Given the description of an element on the screen output the (x, y) to click on. 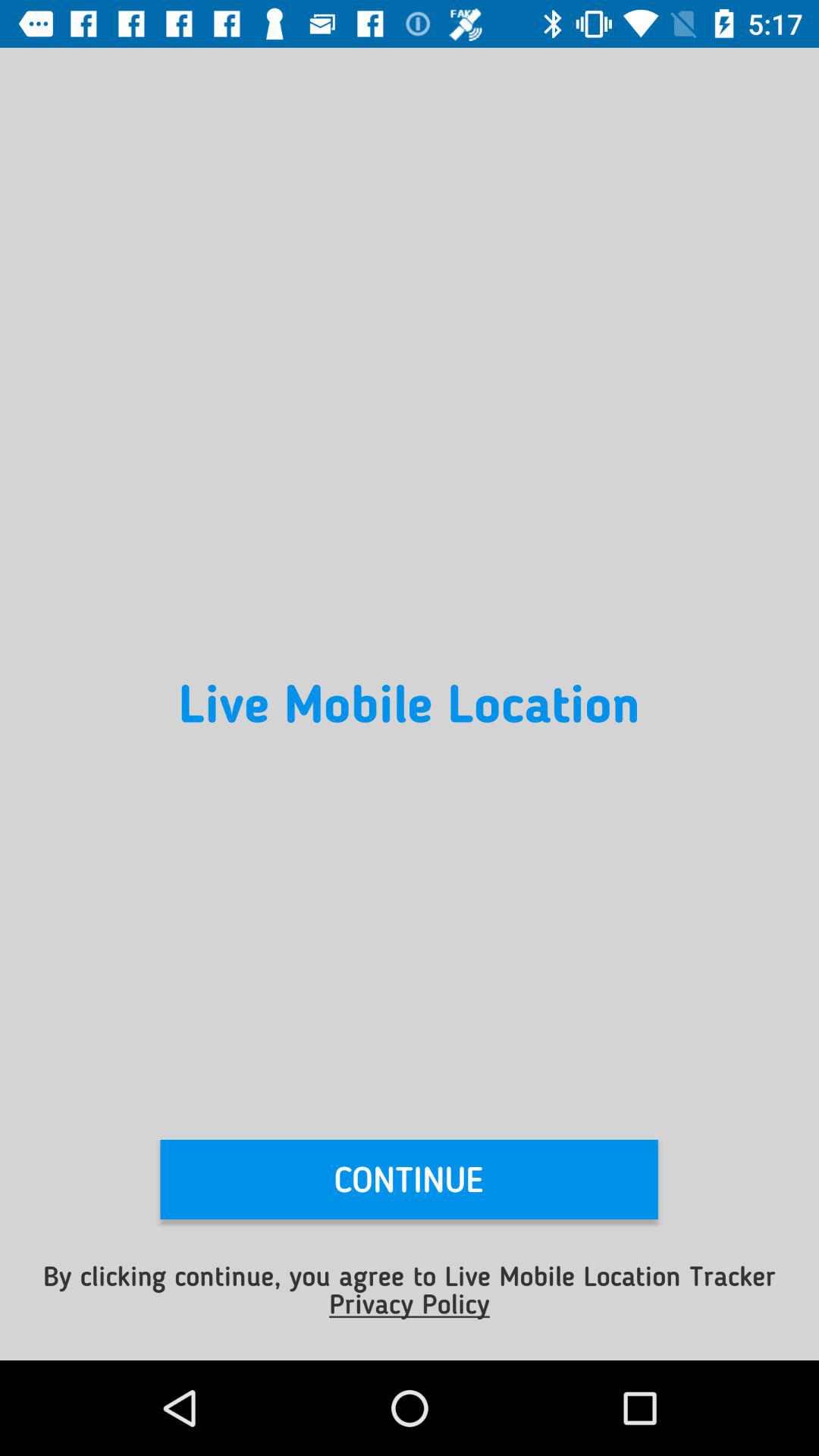
select by clicking continue (409, 1289)
